Given the description of an element on the screen output the (x, y) to click on. 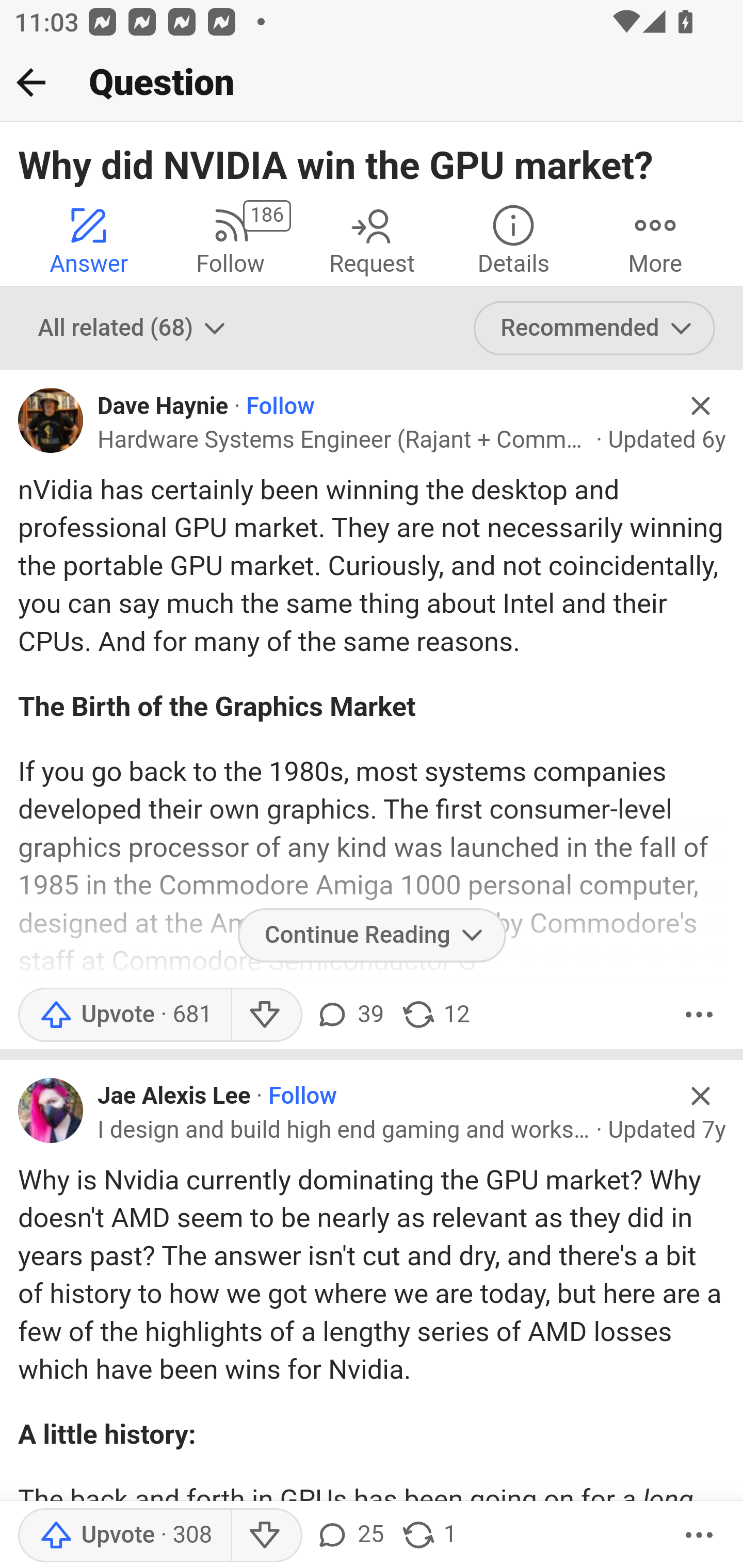
Back Question (371, 82)
Back (30, 82)
Answer (88, 239)
186 Follow (230, 239)
Request (371, 239)
Details (513, 239)
More (655, 239)
All related (68) (133, 327)
Recommended (594, 327)
Hide (700, 405)
Profile photo for Dave Haynie (50, 420)
Dave Haynie (162, 406)
Follow (280, 406)
Updated 6y Updated  6 y (667, 439)
Knowledge Prize (321, 505)
Shane Ryoo (159, 539)
Vignesh Ungrapalli (296, 572)
Continue Reading (371, 934)
Upvote (124, 1014)
Downvote (266, 1014)
39 comments (349, 1014)
12 shares (434, 1014)
More (699, 1014)
Hide (700, 1094)
Profile photo for Jae Alexis Lee (50, 1110)
Jae Alexis Lee (174, 1096)
Follow (302, 1096)
Updated 7y Updated  7 y (667, 1129)
Upvote (124, 1535)
Downvote (266, 1535)
25 comments (349, 1535)
1 share (428, 1535)
More (699, 1535)
